Given the description of an element on the screen output the (x, y) to click on. 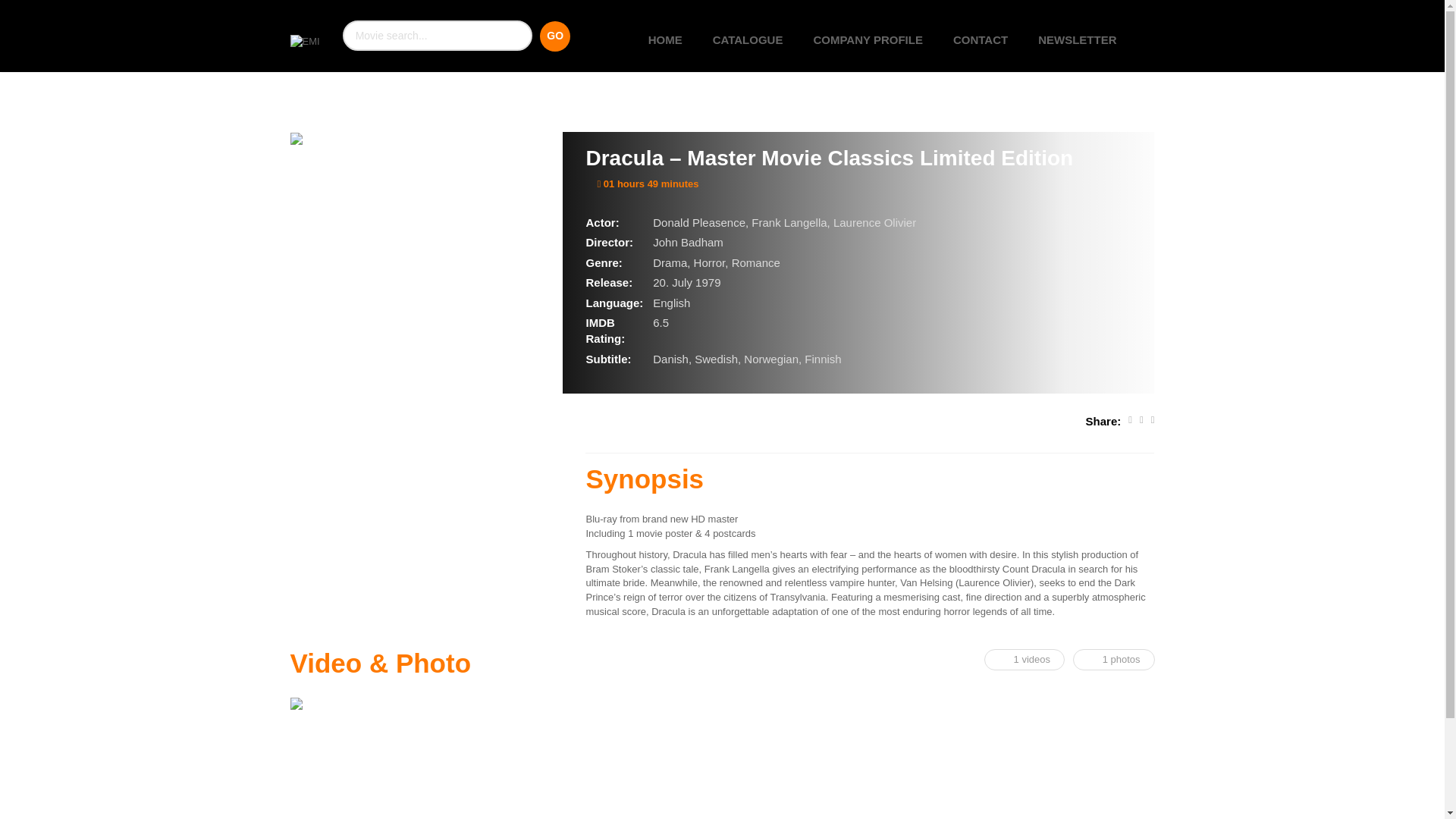
Romance (756, 262)
CONTACT (980, 39)
Horror (709, 262)
Go (555, 36)
Drama (669, 262)
CATALOGUE (747, 39)
John Badham (687, 241)
Frank Langella (789, 222)
COMPANY PROFILE (867, 39)
Laurence Olivier (873, 222)
HOME (665, 39)
Donald Pleasence (698, 222)
NEWSLETTER (1077, 39)
Go (555, 36)
